Given the description of an element on the screen output the (x, y) to click on. 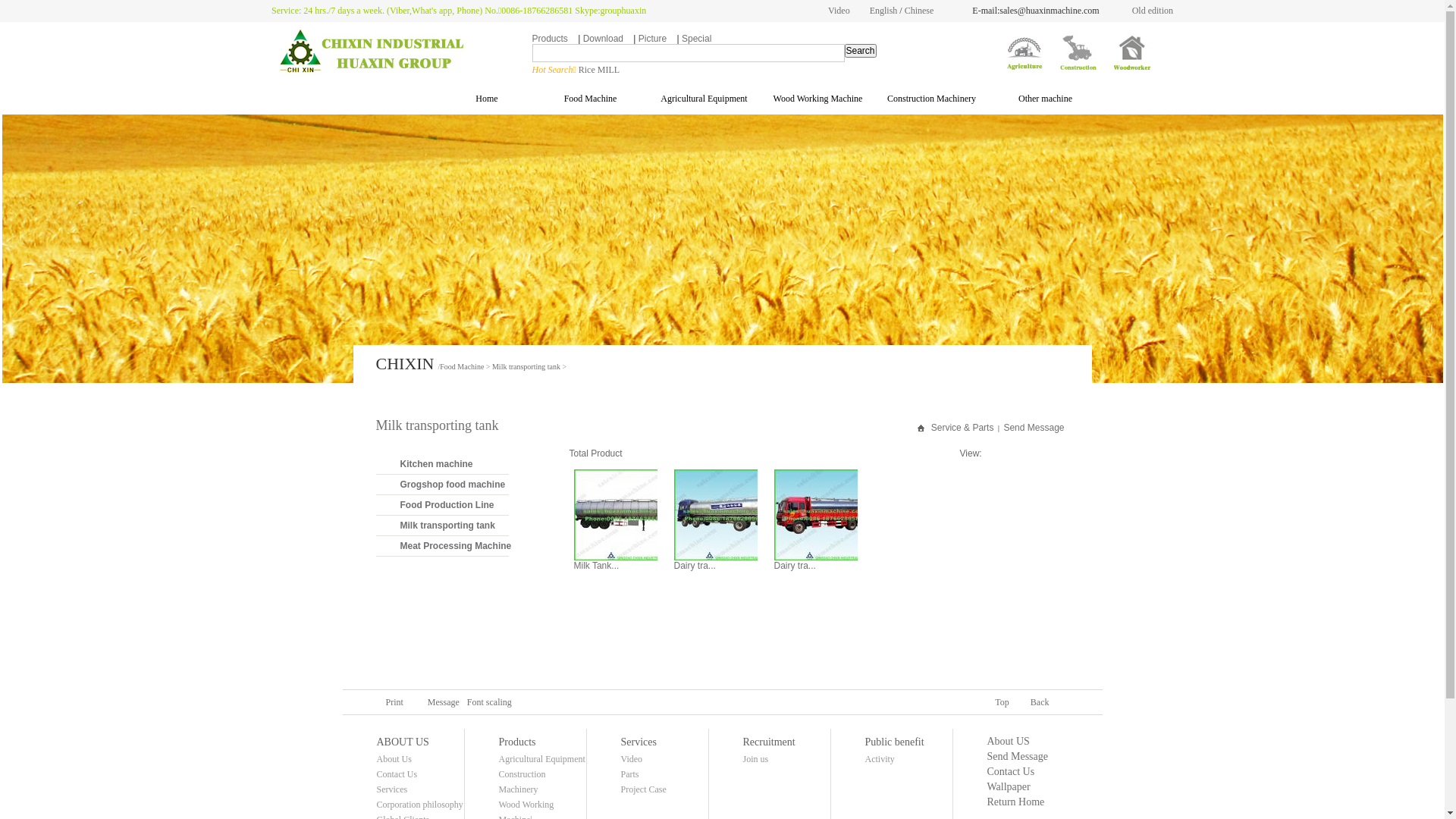
Big Element type: text (560, 701)
Milk Tank on Special Vehicle Element type: hover (614, 514)
Food Machine Element type: text (590, 98)
Parts Element type: text (629, 773)
Back Element type: text (1032, 701)
Video Element type: text (631, 758)
Construction Machinery Element type: text (522, 781)
Agricultural Equipment Element type: text (704, 98)
Food Machine Element type: text (461, 366)
Message Element type: text (435, 701)
Meat Processing Machine Element type: text (452, 545)
         Home Element type: text (476, 98)
Dairy tra... Element type: text (694, 565)
Small Element type: text (532, 701)
Wood Working Machine Element type: text (818, 98)
Project Case Element type: text (642, 789)
Milk Tank... Element type: text (595, 565)
Activity Element type: text (879, 758)
Send Message Element type: text (1017, 756)
Middle Element type: text (546, 701)
Special Element type: text (696, 38)
Chinese Element type: text (919, 10)
Rice MILL Element type: text (598, 69)
Corporation philosophy Element type: text (419, 804)
Products Element type: text (517, 741)
Milk transporting tank Element type: text (452, 525)
Kitchen machine Element type: text (452, 463)
Download Element type: text (603, 38)
Milk transporting tank Element type: text (437, 425)
Products Element type: text (549, 38)
About US Element type: text (1008, 740)
Other machine Element type: text (1045, 98)
Services Element type: text (637, 741)
Top Element type: text (995, 701)
Recruitment Element type: text (769, 741)
Send Message Element type: text (1033, 427)
About Us Element type: text (393, 758)
Dairy tra... Element type: text (794, 565)
Old edition Element type: text (1152, 10)
English Element type: text (883, 10)
Public benefit Element type: text (893, 741)
Services Element type: text (391, 789)
Join us Element type: text (755, 758)
Dairy transport tank insulation Element type: hover (714, 514)
Dairy transport tank insulation Element type: hover (814, 514)
Wallpaper Element type: text (1008, 786)
Print Element type: text (385, 701)
Agricultural Equipment Element type: text (541, 758)
Video Element type: text (839, 10)
Return Home Element type: text (1015, 801)
Contact Us Element type: text (1011, 771)
Construction Machinery Element type: text (931, 98)
Service & Parts Element type: text (962, 427)
Picture Element type: text (652, 38)
Grogshop food machine Element type: text (452, 484)
Search Element type: text (860, 50)
ABOUT US Element type: text (402, 741)
Milk transporting tank Element type: text (526, 366)
Contact Us Element type: text (396, 773)
Food Production Line Element type: text (452, 504)
